Given the description of an element on the screen output the (x, y) to click on. 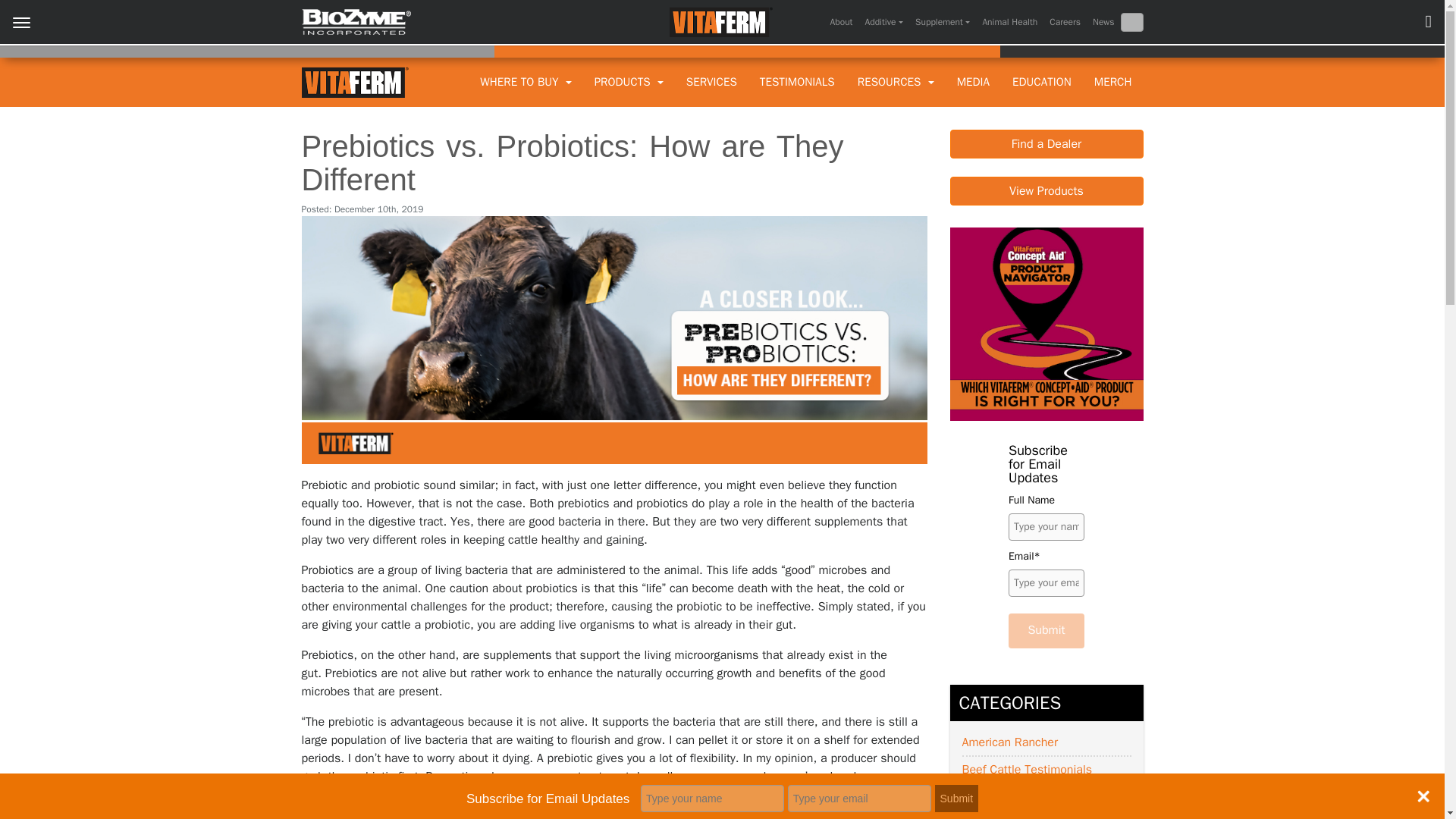
News (1103, 21)
Additives (883, 21)
About (841, 21)
WHERE TO BUY (525, 82)
About (841, 21)
PRODUCTS (628, 82)
Supplements (941, 21)
Animal Health (1009, 21)
Careers (1064, 21)
Supplement (941, 21)
Additive (883, 21)
Animal Health (1009, 21)
